Given the description of an element on the screen output the (x, y) to click on. 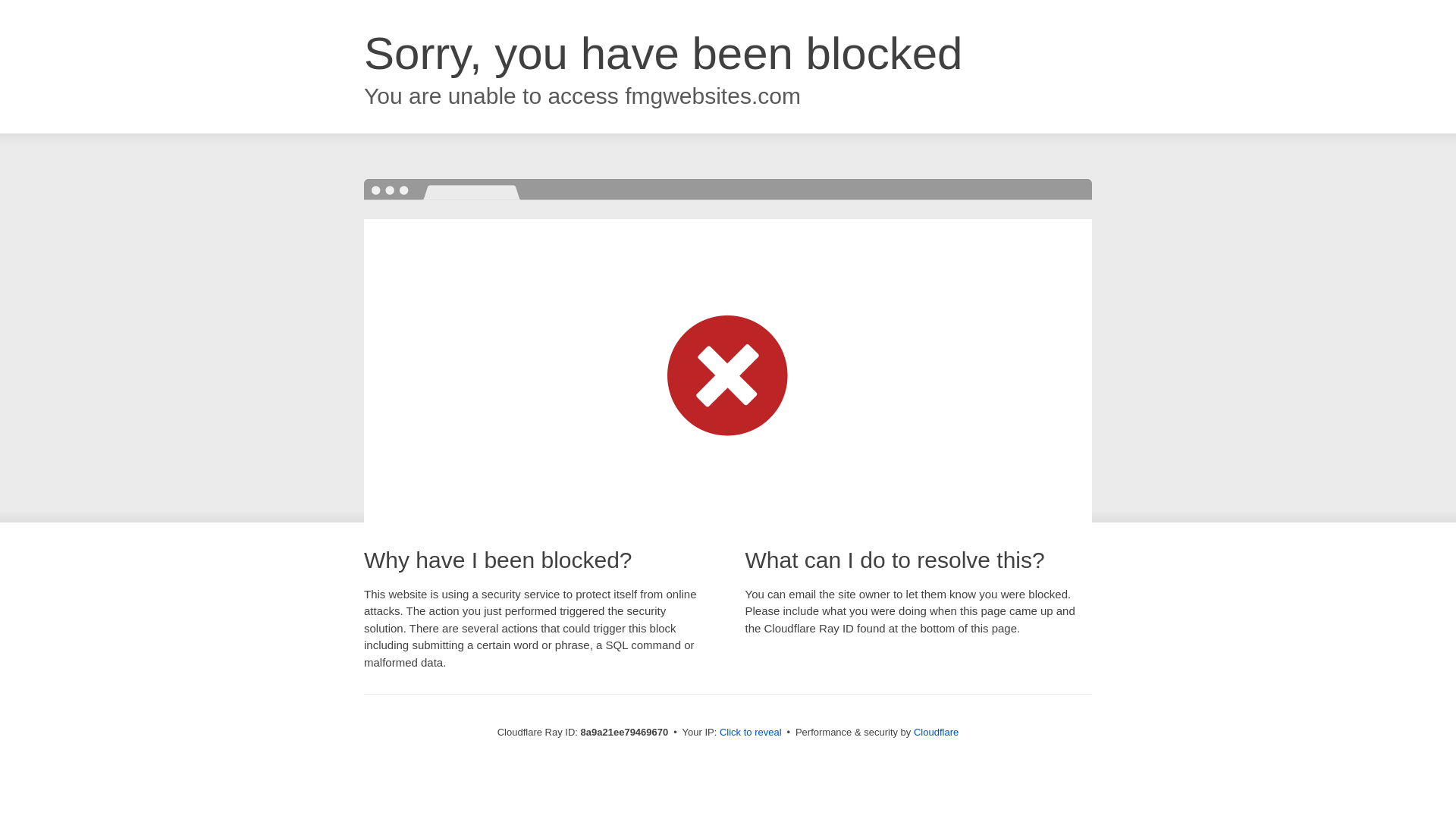
Click to reveal (750, 732)
Cloudflare (936, 731)
